Given the description of an element on the screen output the (x, y) to click on. 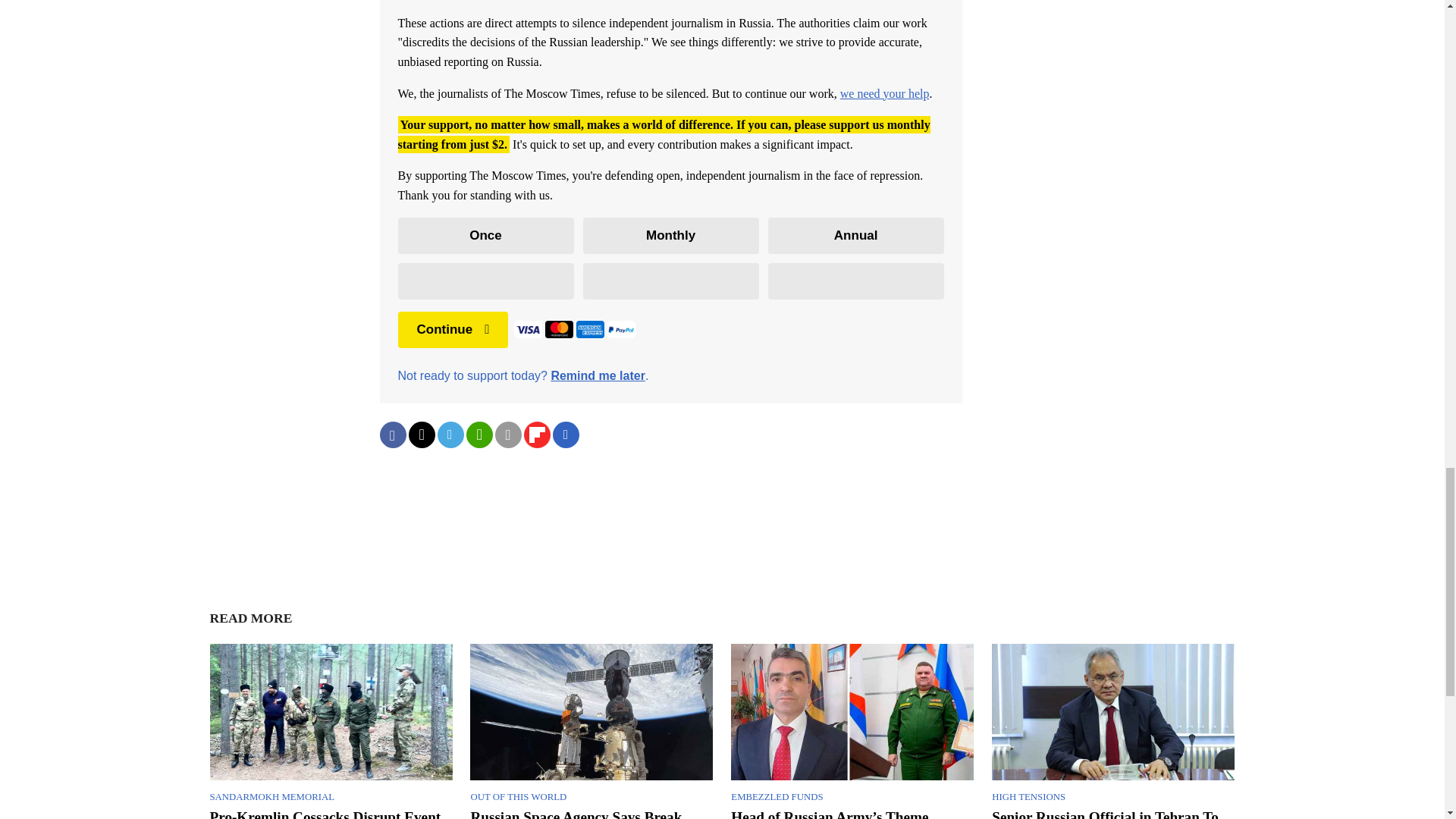
Share on Flipboard (536, 434)
Share on Facebook (392, 434)
Share on Telegram (449, 434)
we need your help (885, 92)
Share on Twitter (420, 434)
